Given the description of an element on the screen output the (x, y) to click on. 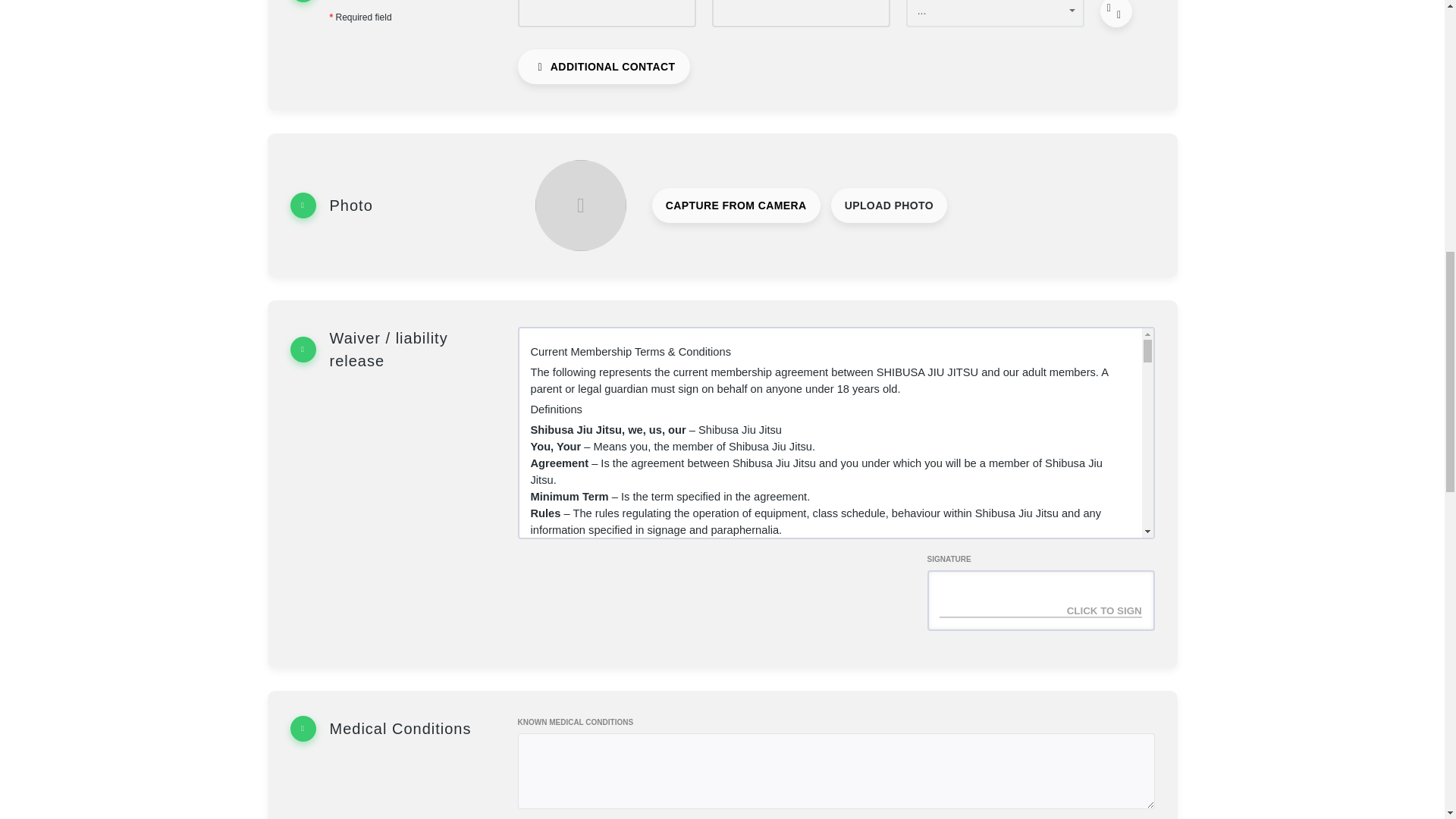
ADDITIONAL CONTACT (603, 66)
CAPTURE FROM CAMERA (736, 205)
